Given the description of an element on the screen output the (x, y) to click on. 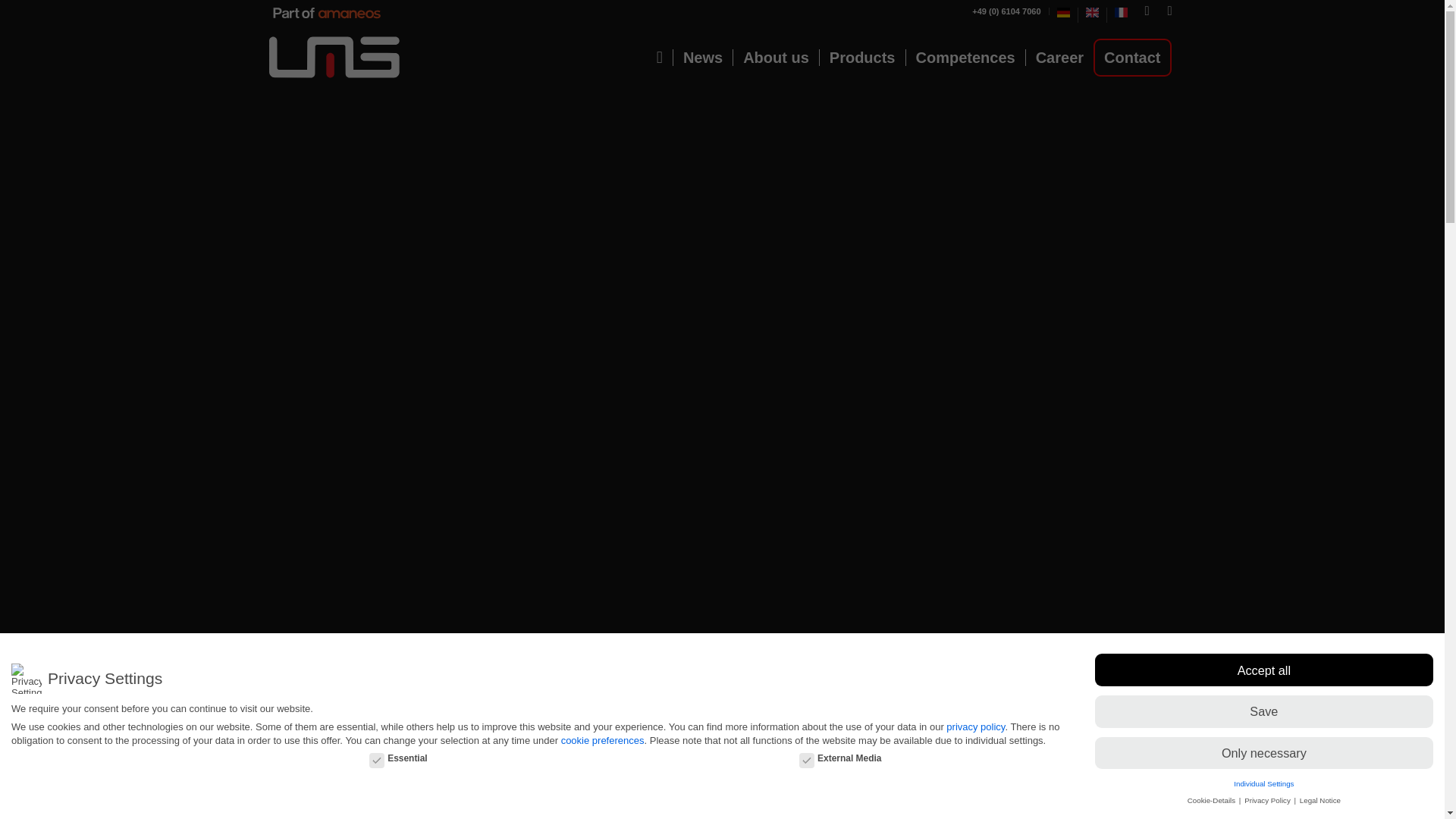
Mail (1169, 11)
Competences (965, 57)
LinkedIn (1146, 11)
Products (861, 57)
LMS-Final-Logo (333, 57)
LMS-Final-Logo-White-New (333, 56)
About us (775, 57)
